Given the description of an element on the screen output the (x, y) to click on. 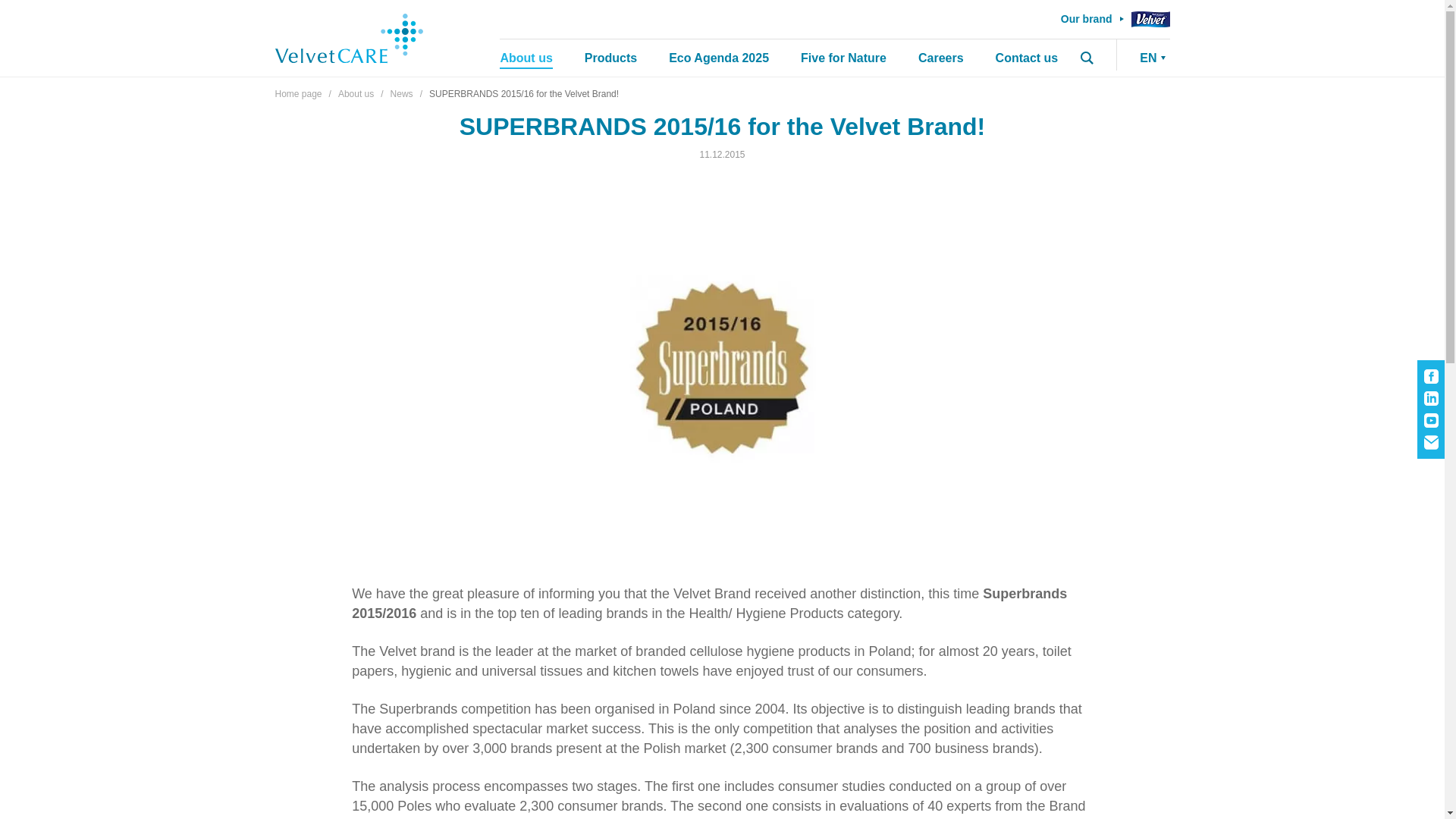
Contact us (1026, 57)
Velvet (1150, 19)
Linkedin (1430, 398)
Products (611, 57)
Youtube (1430, 420)
Careers (940, 57)
About us (525, 57)
Search (1086, 57)
Eco Agenda 2025 (718, 57)
Five for Nature (843, 57)
